Given the description of an element on the screen output the (x, y) to click on. 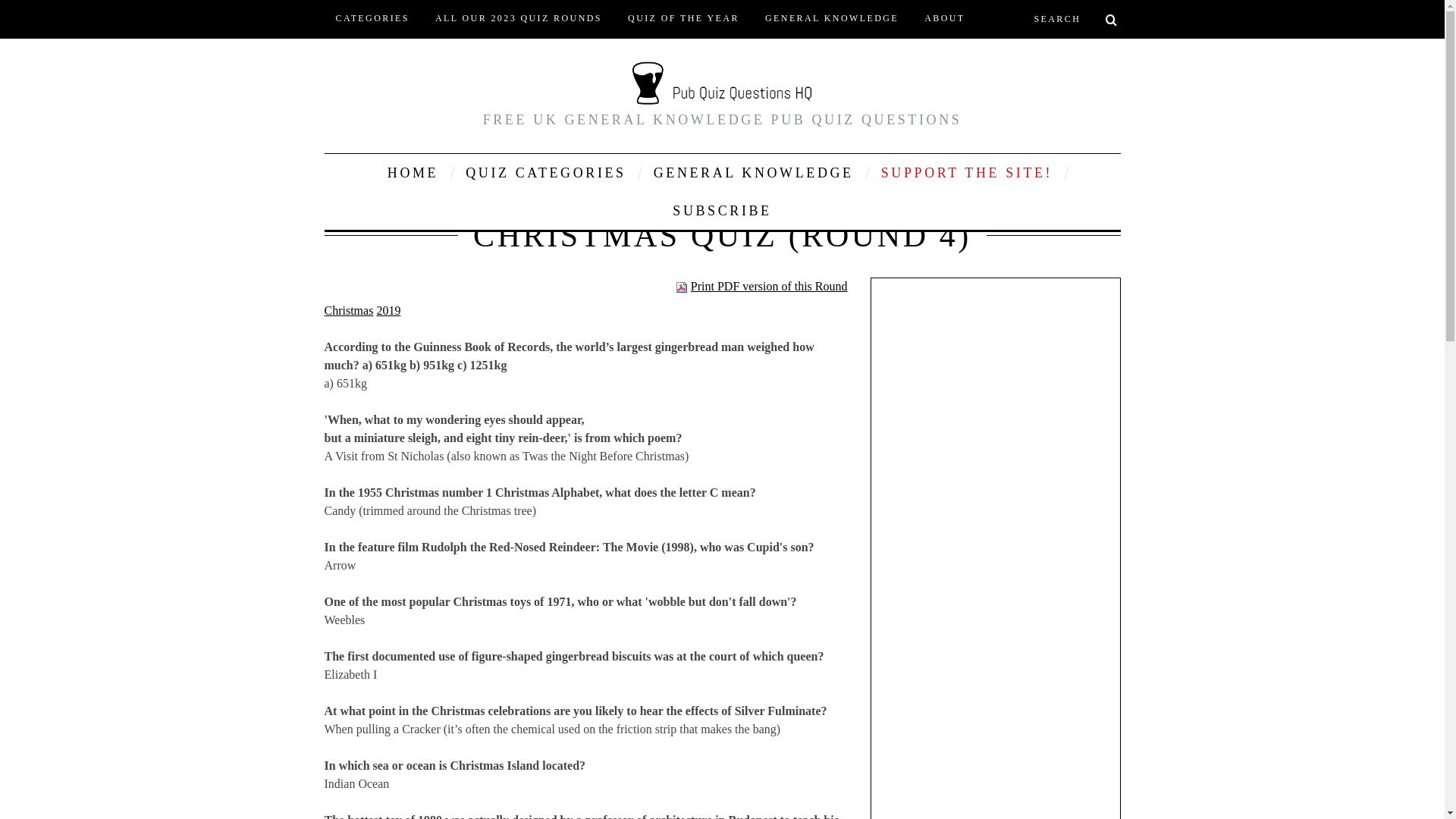
Search (1071, 18)
See quizzes by category (545, 172)
Print PDF version of this Round (761, 286)
GENERAL KNOWLEDGE (753, 172)
ABOUT (943, 18)
HOME (412, 172)
Advertisement (994, 785)
CATEGORIES (372, 18)
QUIZ OF THE YEAR (683, 18)
ALL OUR 2023 QUIZ ROUNDS (517, 18)
